Given the description of an element on the screen output the (x, y) to click on. 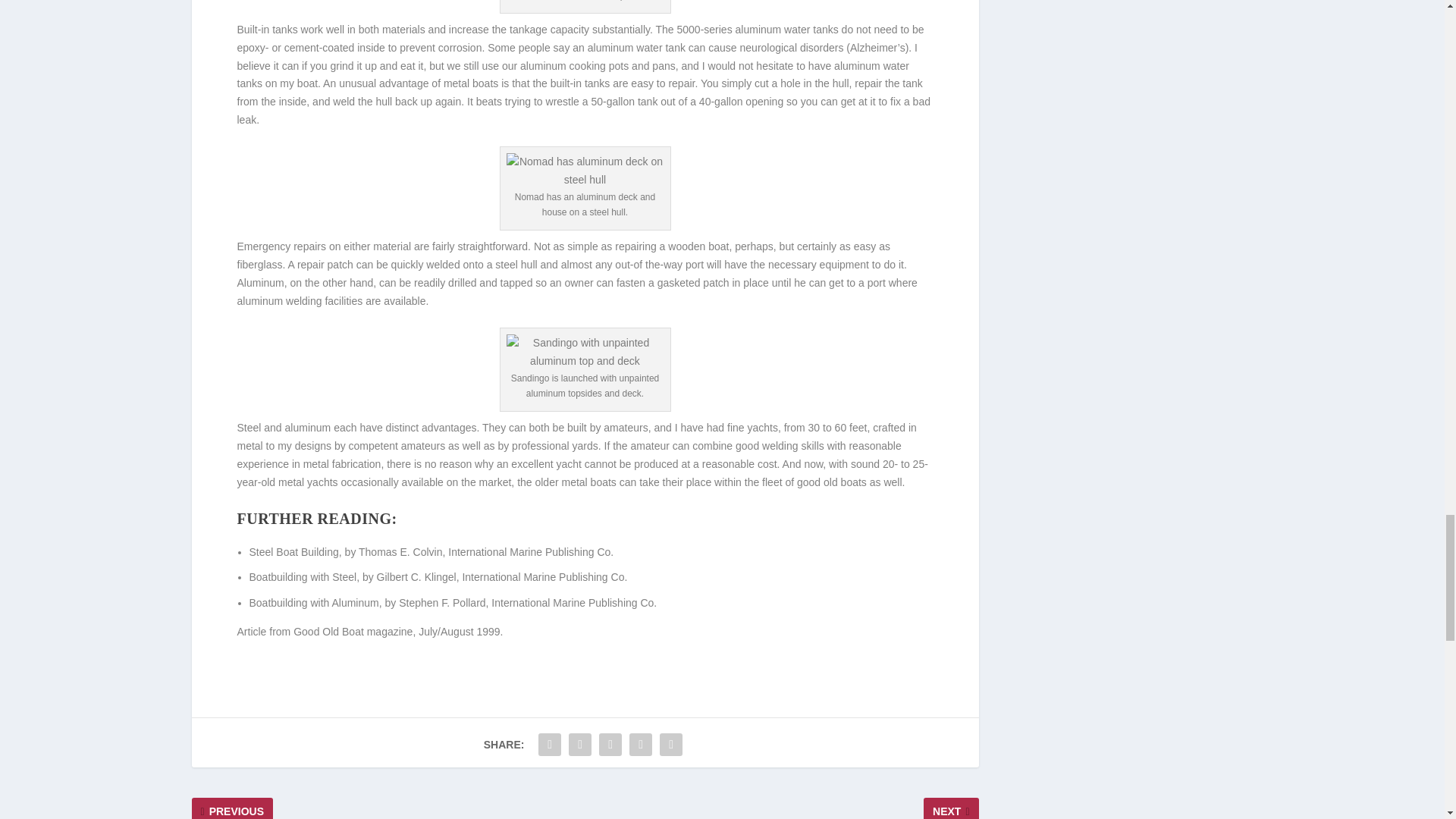
Share "Is There a Metal Yacht in Your Future?" via Facebook (549, 744)
Share "Is There a Metal Yacht in Your Future?" via Twitter (579, 744)
Share "Is There a Metal Yacht in Your Future?" via Email (641, 744)
Share "Is There a Metal Yacht in Your Future?" via Pinterest (610, 744)
Share "Is There a Metal Yacht in Your Future?" via Print (670, 744)
